Given the description of an element on the screen output the (x, y) to click on. 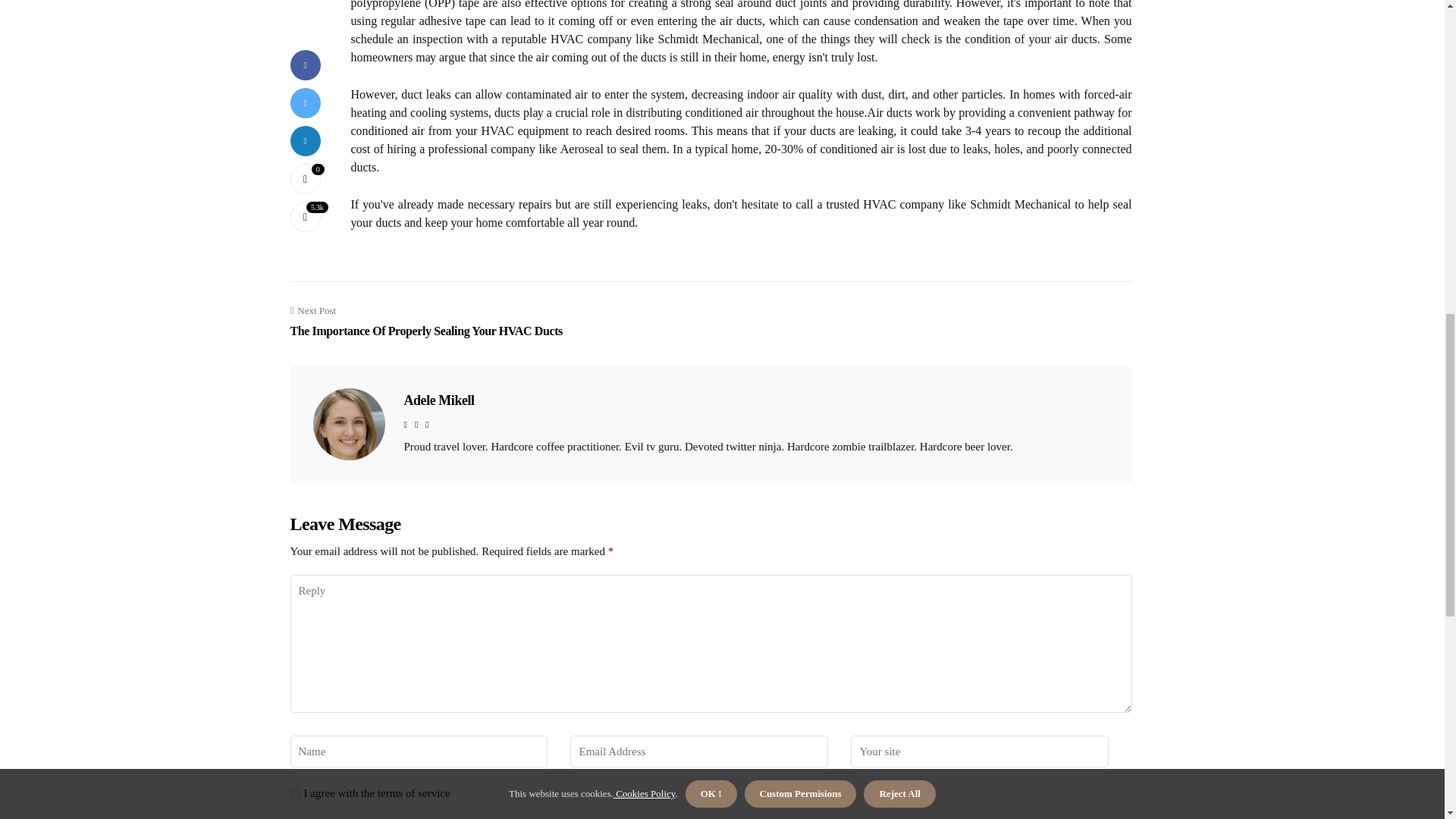
Adele Mikell (425, 321)
yes (438, 400)
